Given the description of an element on the screen output the (x, y) to click on. 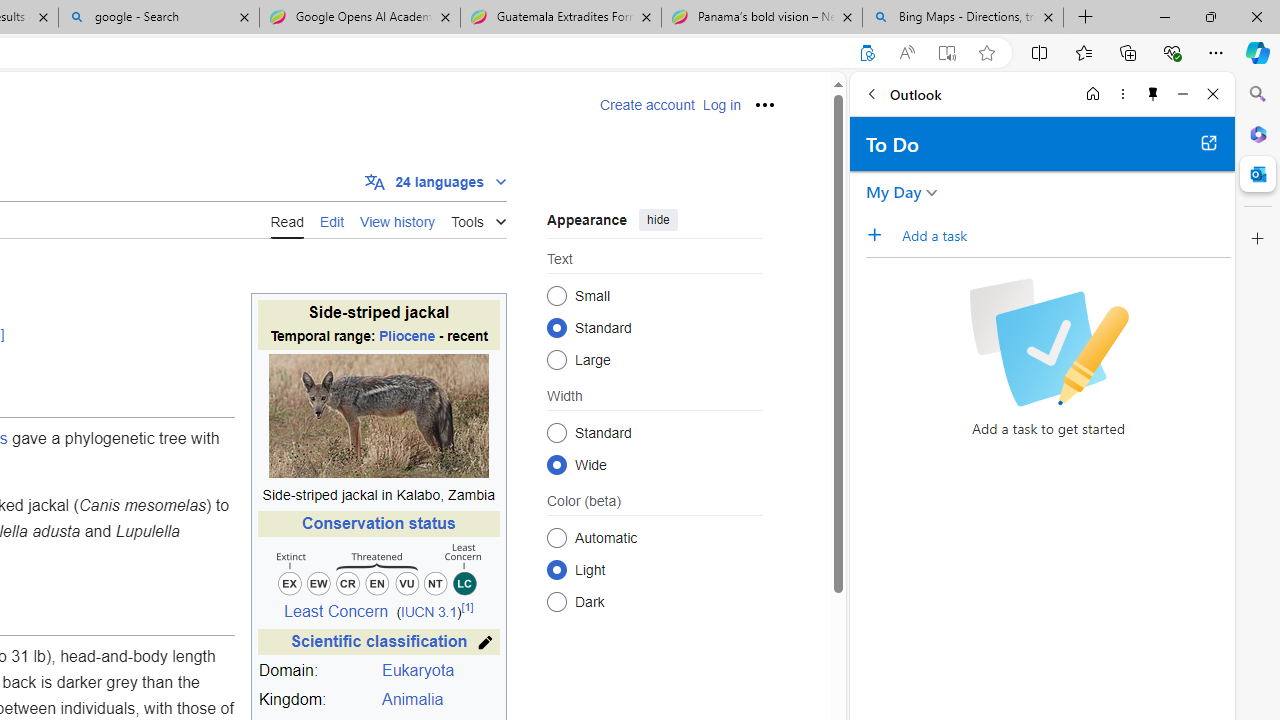
Least Concern (336, 611)
Animalia (412, 700)
Read (287, 219)
Dark (556, 601)
Small (556, 295)
Eukaryota (417, 670)
[1] (466, 607)
Scientific classification Edit this classification (378, 642)
Checkbox with a pencil (1047, 342)
